Given the description of an element on the screen output the (x, y) to click on. 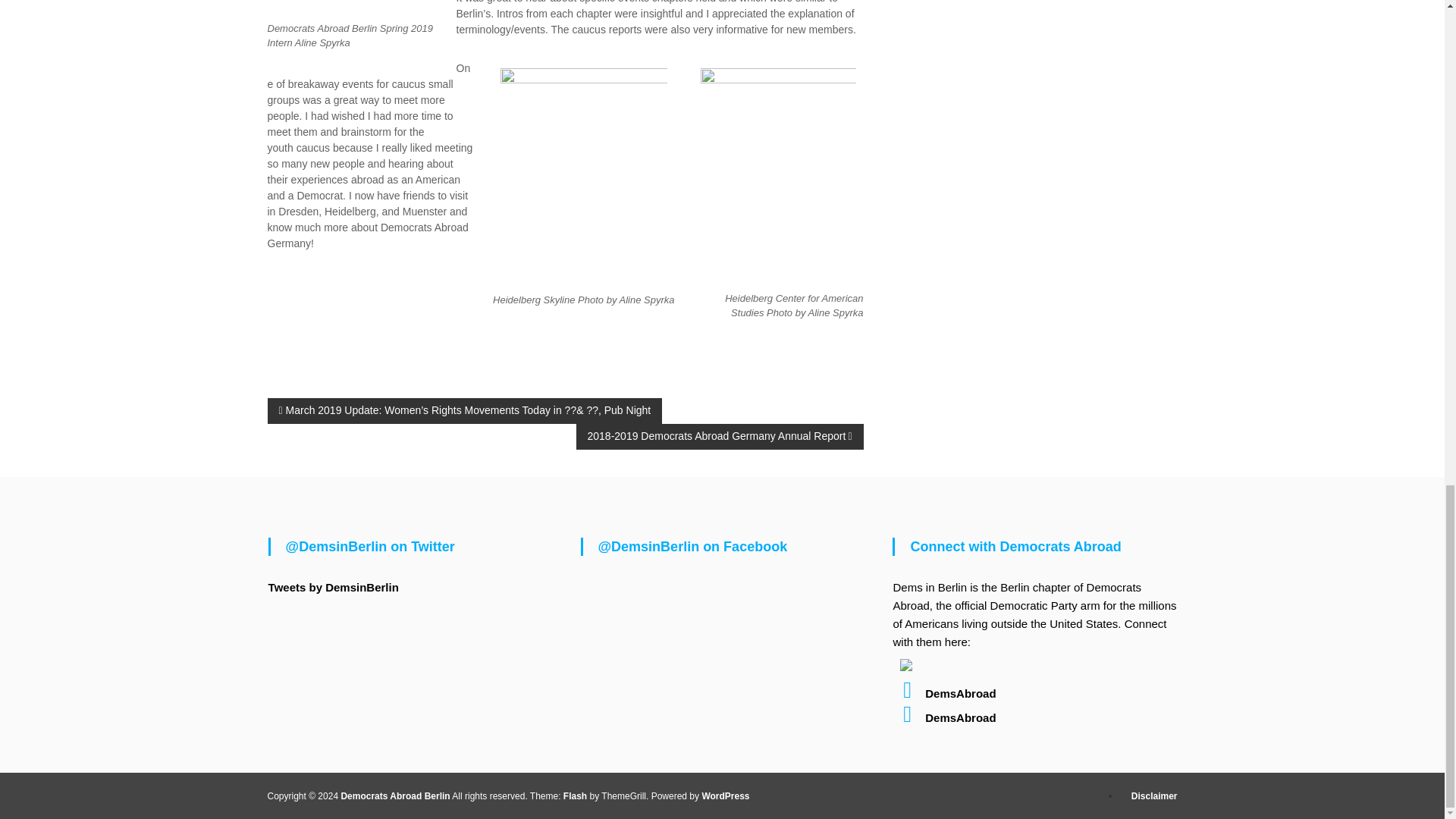
Disclaimer (1154, 796)
Democrats Abroad Berlin (394, 796)
2018-2019 Democrats Abroad Germany Annual Report (719, 436)
Tweets by DemsinBerlin (332, 586)
Flash (574, 796)
WordPress (725, 796)
DemsAbroad (943, 693)
DemsAbroad (943, 717)
